Given the description of an element on the screen output the (x, y) to click on. 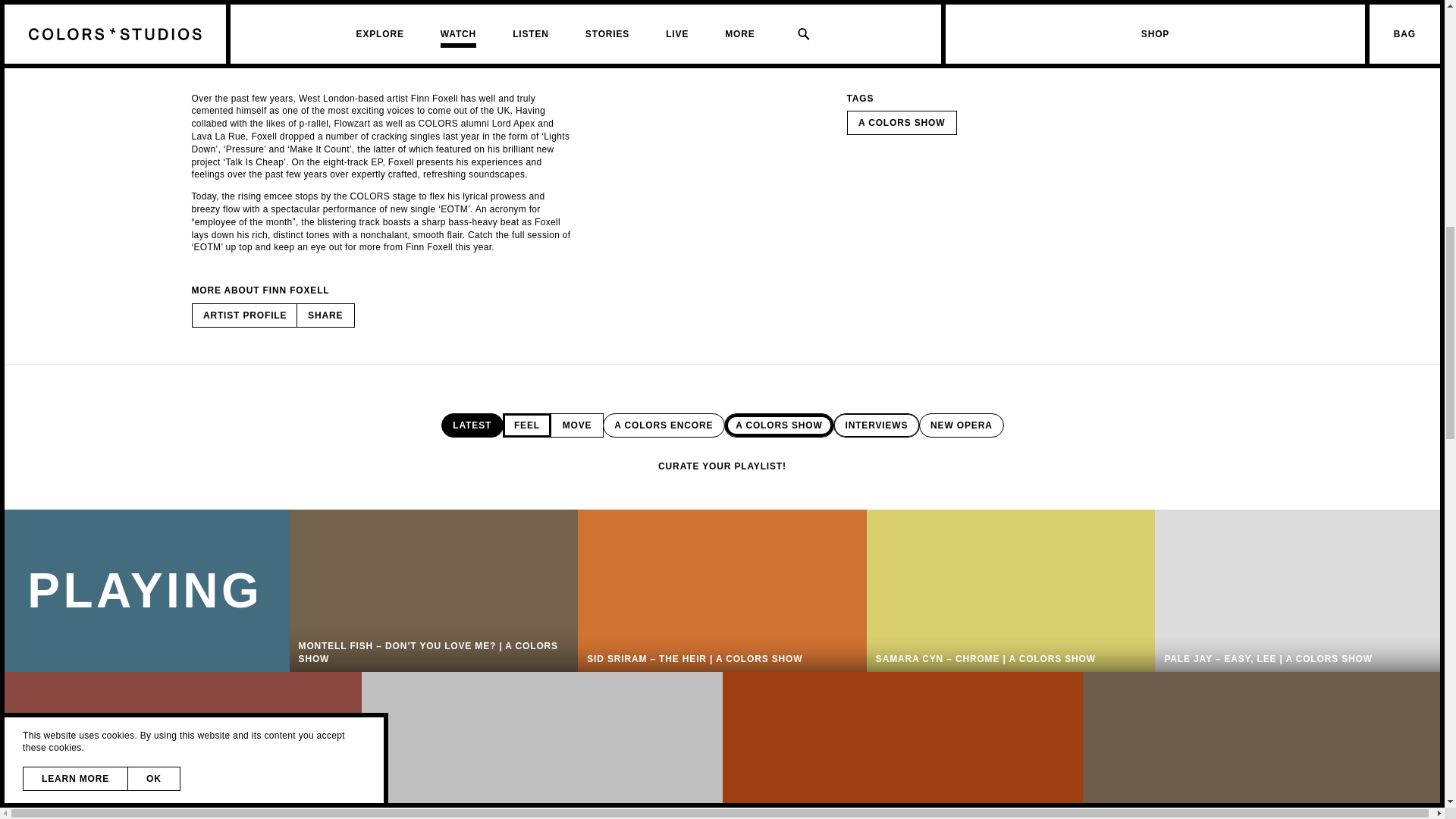
FEEL (526, 425)
ARTIST PROFILE (244, 315)
MOVE (576, 425)
LATEST (472, 425)
INTERVIEWS (876, 425)
DELFINA DIB INTERVIEW (181, 745)
SHARE (326, 315)
A COLORS SHOW (900, 122)
NEW OPERA (961, 425)
A COLORS ENCORE (663, 425)
